Given the description of an element on the screen output the (x, y) to click on. 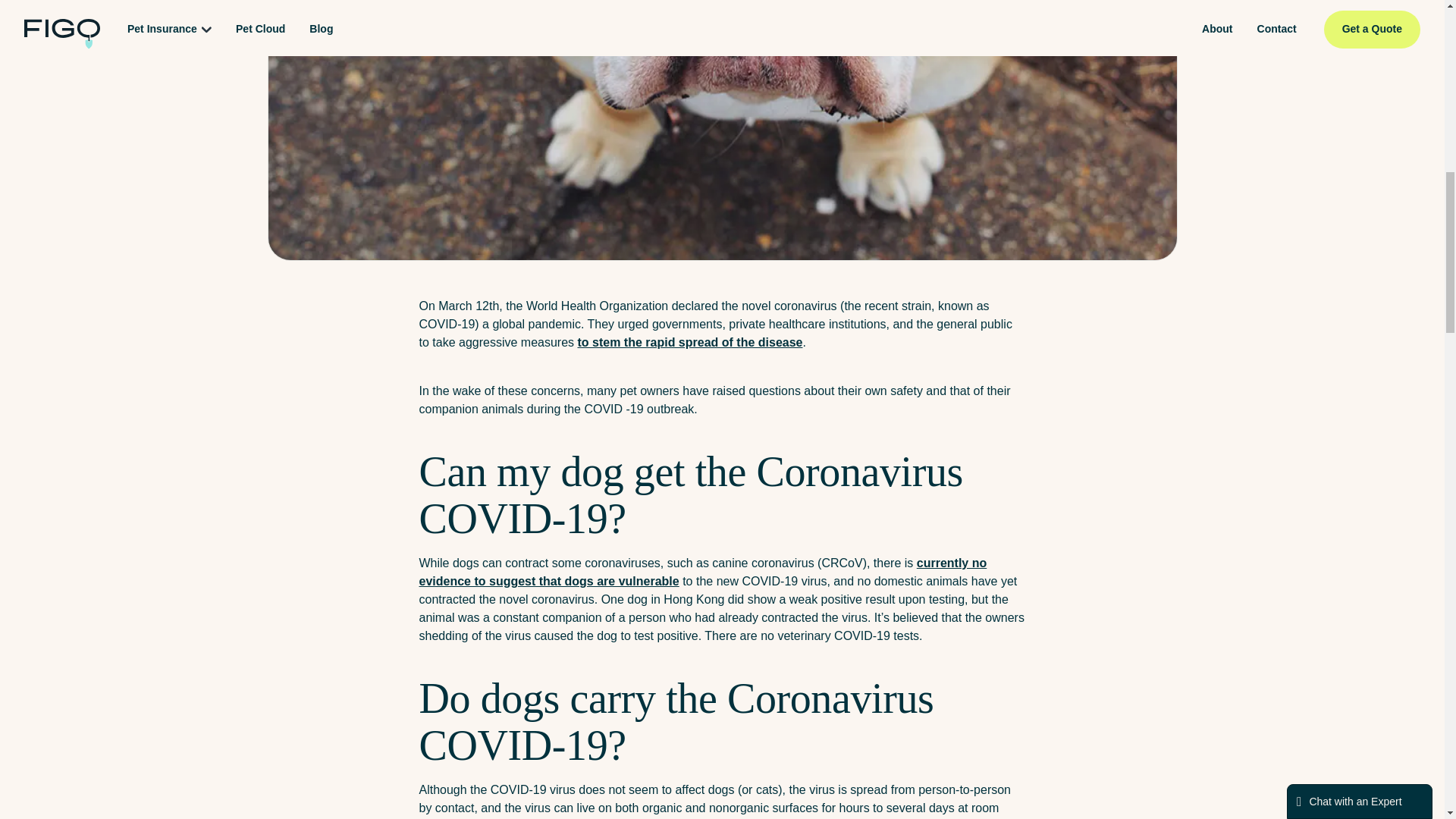
to stem the rapid spread of the disease (690, 341)
opens in a new window  (703, 572)
opens in a new window  (690, 341)
currently no evidence to suggest that dogs are vulnerable (703, 572)
